Given the description of an element on the screen output the (x, y) to click on. 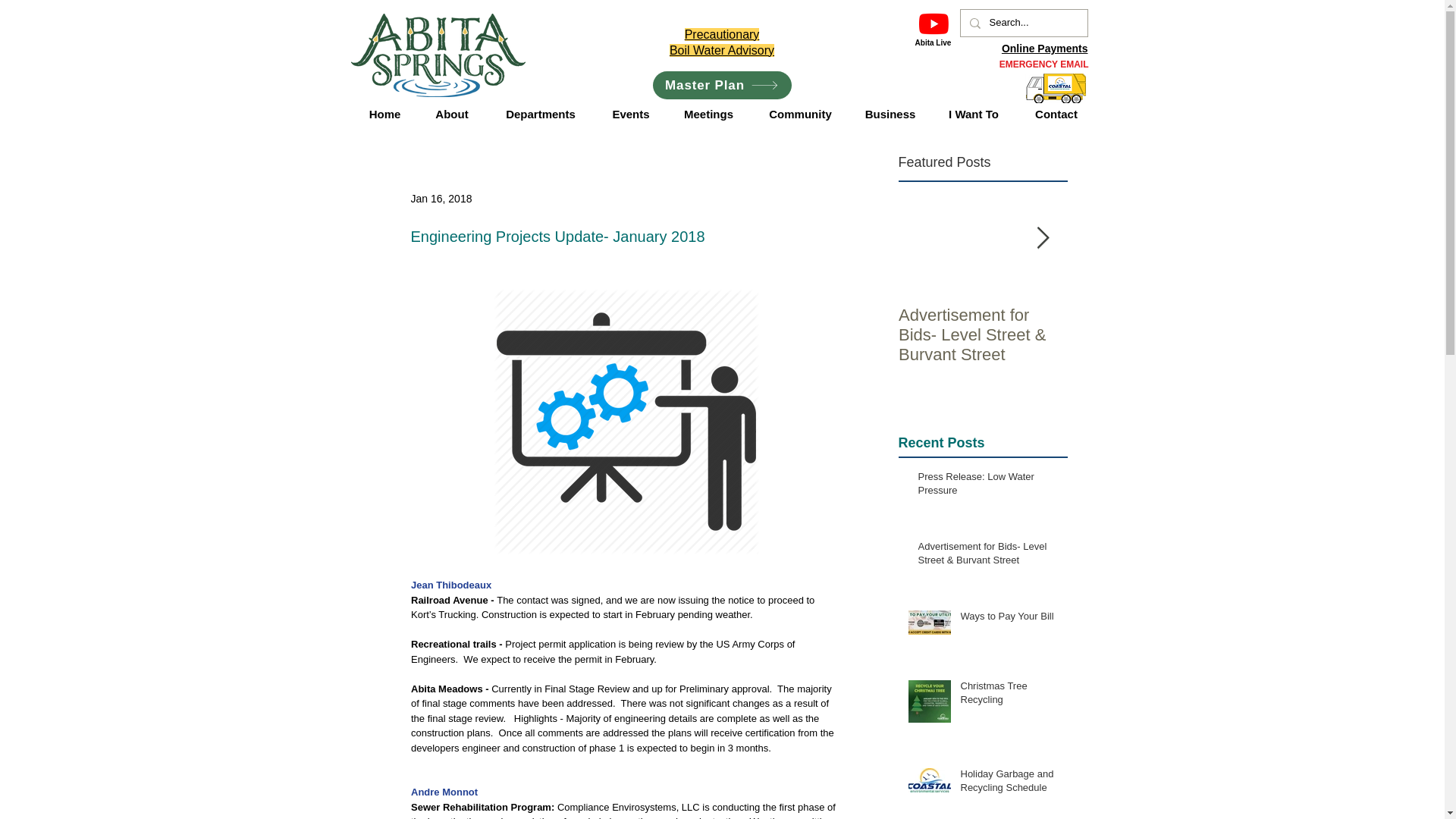
Meetings (708, 113)
Events (630, 113)
Business (889, 113)
Boil Water Advisory (721, 50)
Precautionary (722, 33)
Contact (1056, 113)
Master Plan (721, 85)
Departments (539, 113)
Home (385, 113)
About (452, 113)
Community (799, 113)
Jan 16, 2018 (440, 198)
EMERGENCY EMAIL (1043, 63)
Online Payments (1044, 48)
I Want To (973, 113)
